Given the description of an element on the screen output the (x, y) to click on. 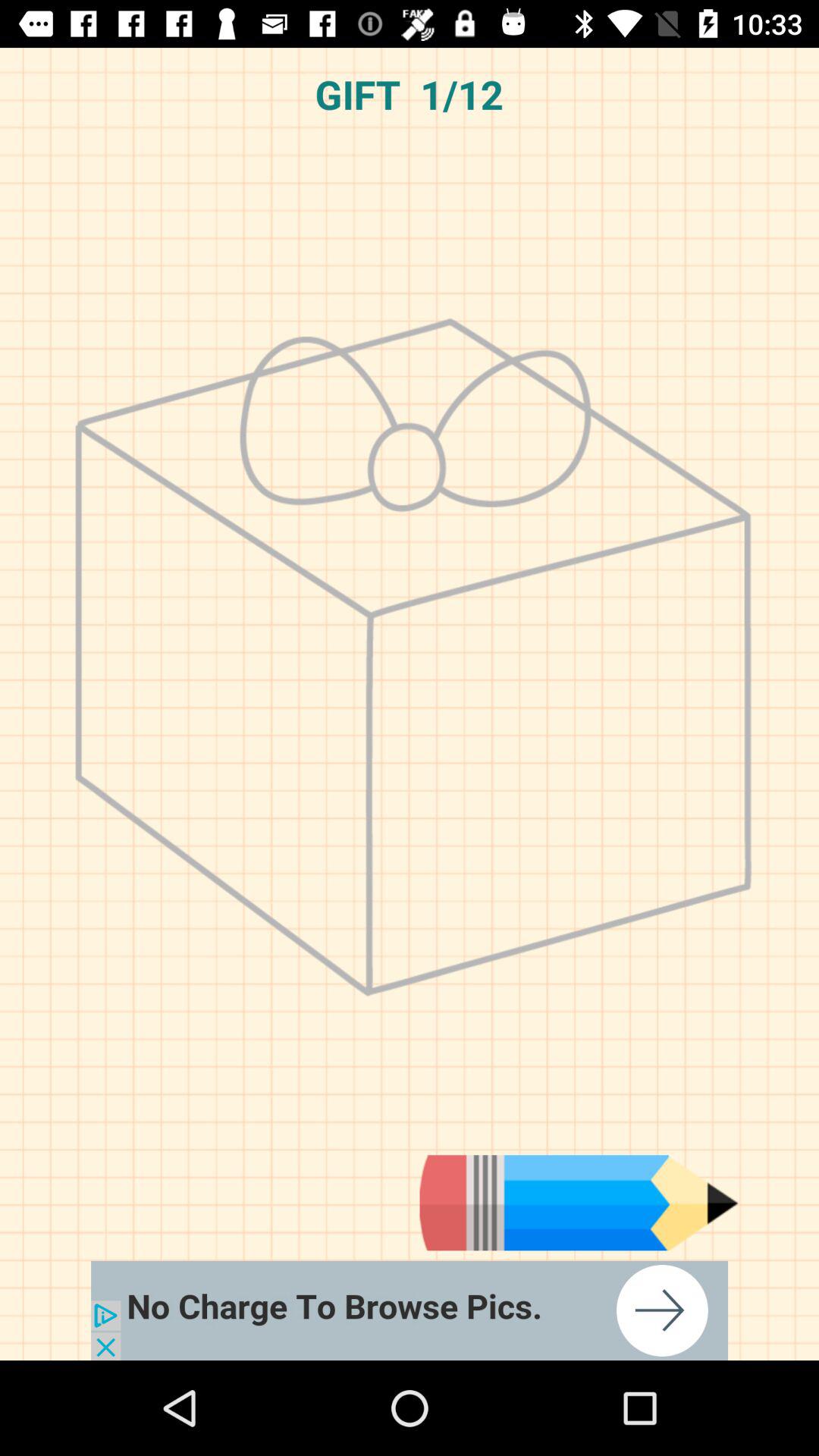
browse pics for free (409, 1310)
